Given the description of an element on the screen output the (x, y) to click on. 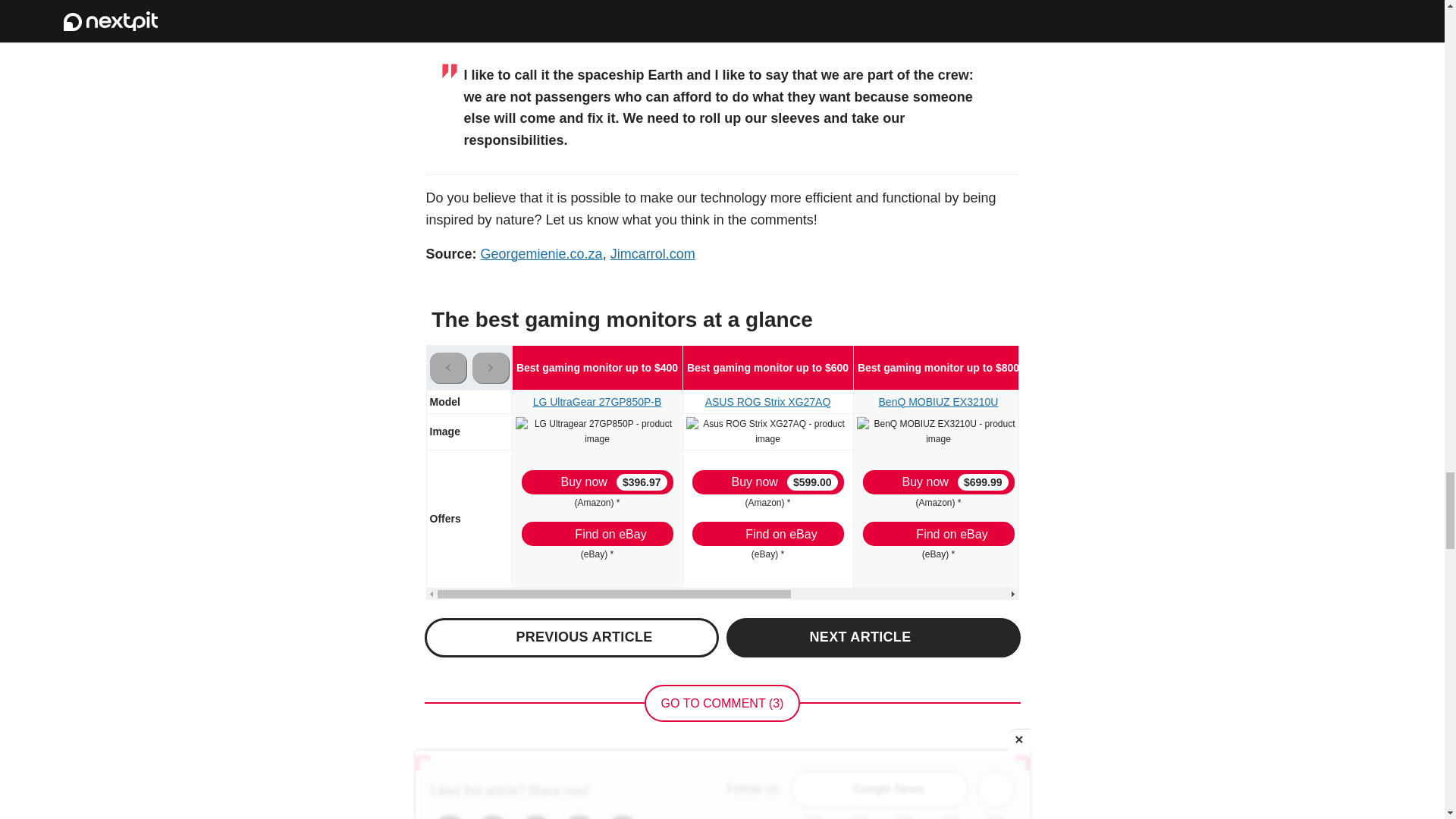
Asus ROG Strix XG27AQ (766, 430)
Asus ROG Swift PG27AQDM (1111, 430)
LG Ultragear 27GP850P (597, 430)
BenQ MOBIUZ EX3210U (938, 430)
Gigabyte M32U (1290, 423)
